Given the description of an element on the screen output the (x, y) to click on. 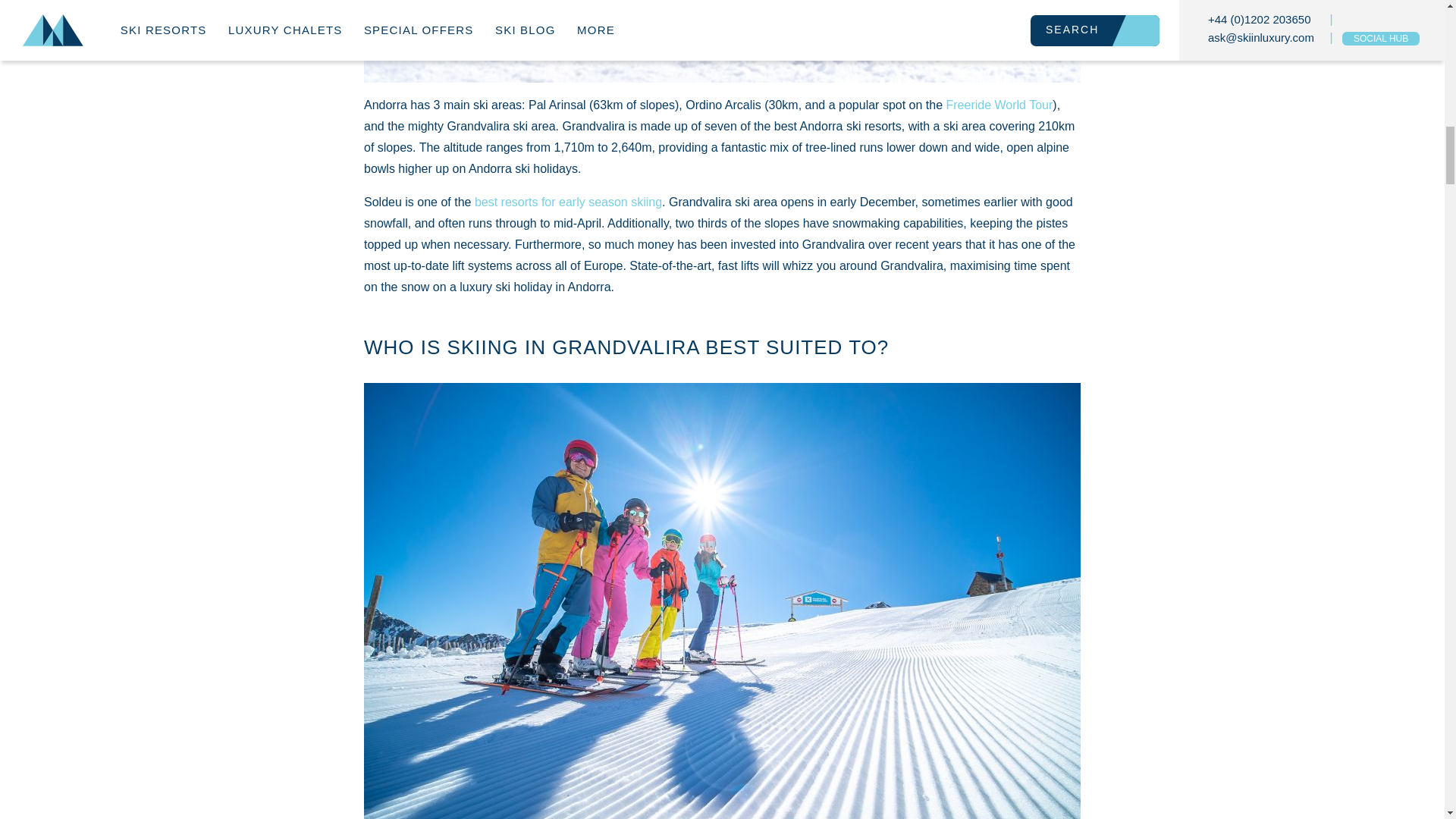
Skiing in Grandvalira. Copyright: Grandvalira Tourist Office (722, 41)
